Given the description of an element on the screen output the (x, y) to click on. 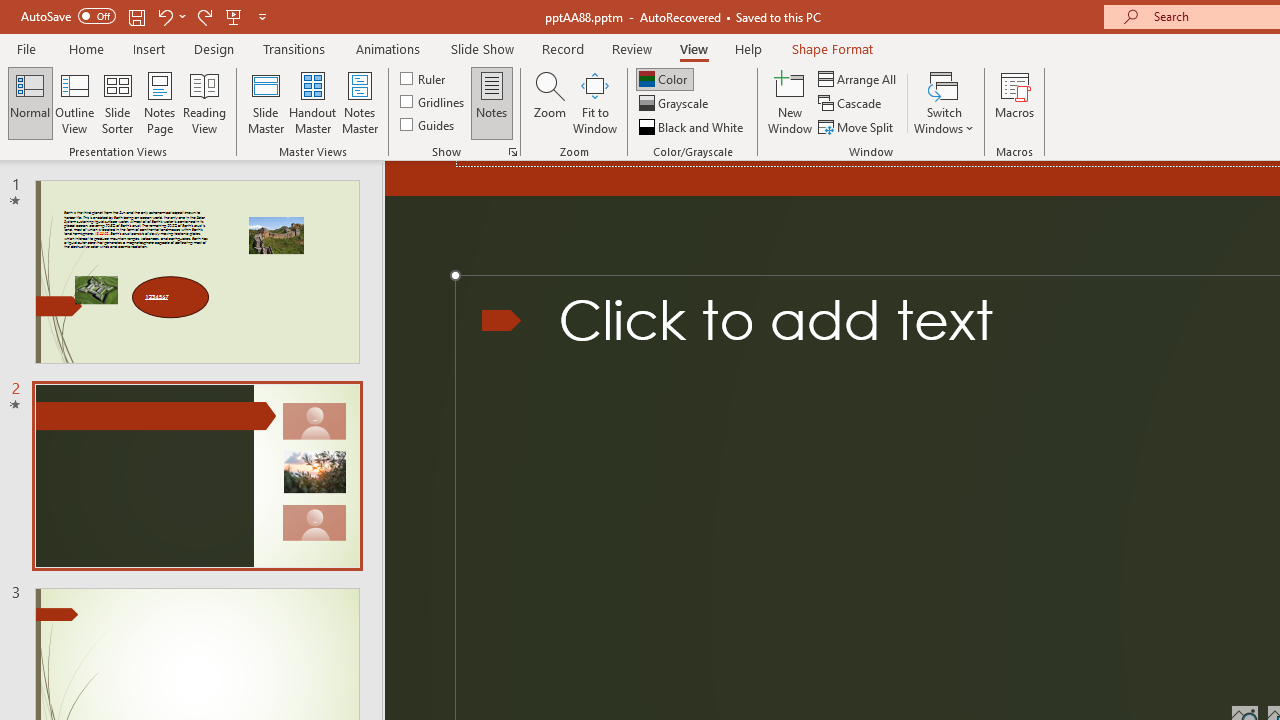
Gridlines (433, 101)
Grid Settings... (512, 151)
Arrange All (858, 78)
